Given the description of an element on the screen output the (x, y) to click on. 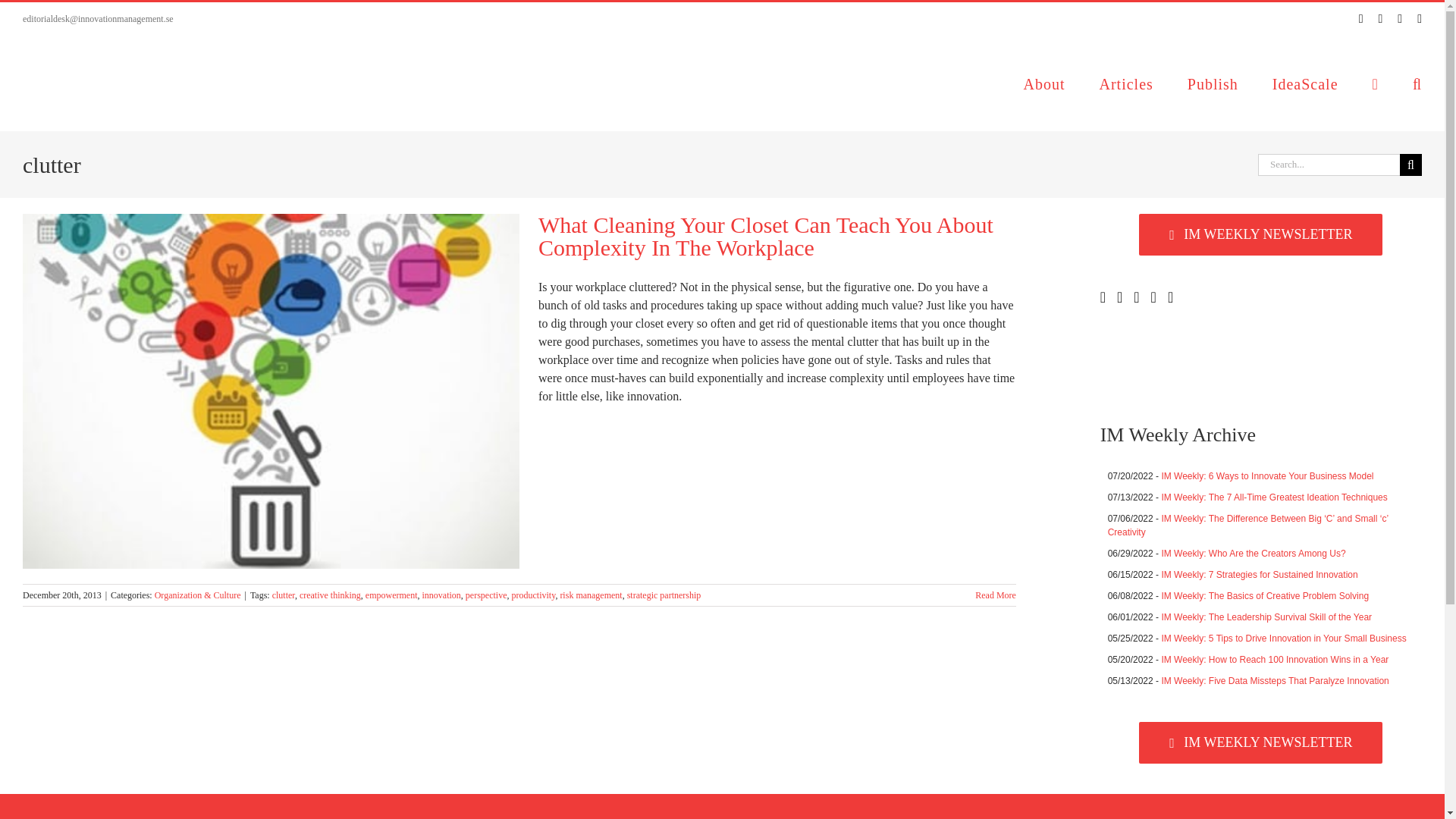
innovation (441, 594)
creative thinking (330, 594)
perspective (485, 594)
empowerment (391, 594)
IM Weekly: Who Are the Creators Among Us? (1252, 552)
clutter (283, 594)
IM Weekly: The 7 All-Time Greatest Ideation Techniques (1273, 497)
IM Weekly: 6 Ways to Innovate Your Business Model (1266, 475)
